Given the description of an element on the screen output the (x, y) to click on. 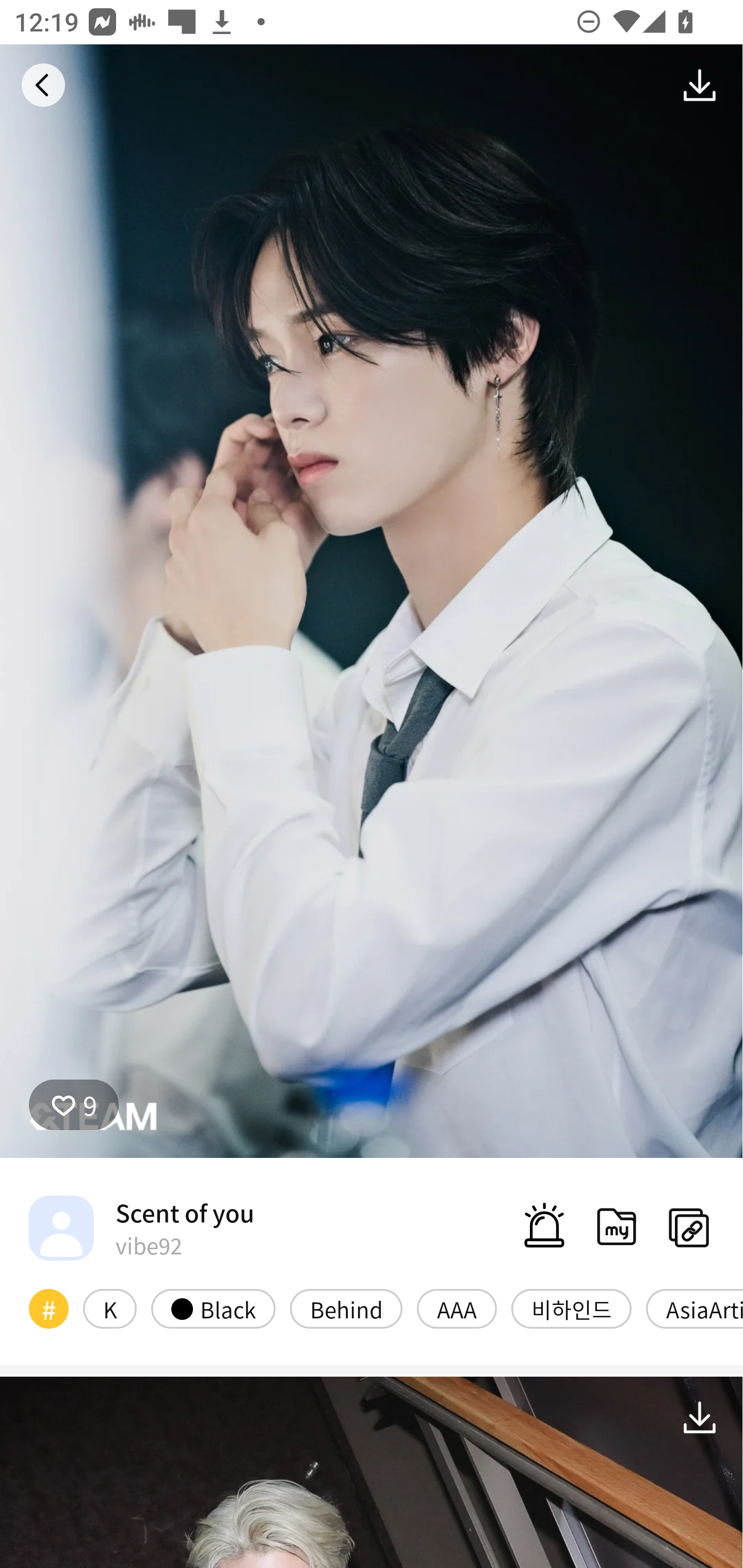
9 (73, 1104)
Scent of you vibe92 (141, 1227)
K (109, 1308)
Black (212, 1308)
Behind (345, 1308)
AAA (456, 1308)
비하인드 (571, 1308)
AsiaArtistAwards (694, 1308)
